Given the description of an element on the screen output the (x, y) to click on. 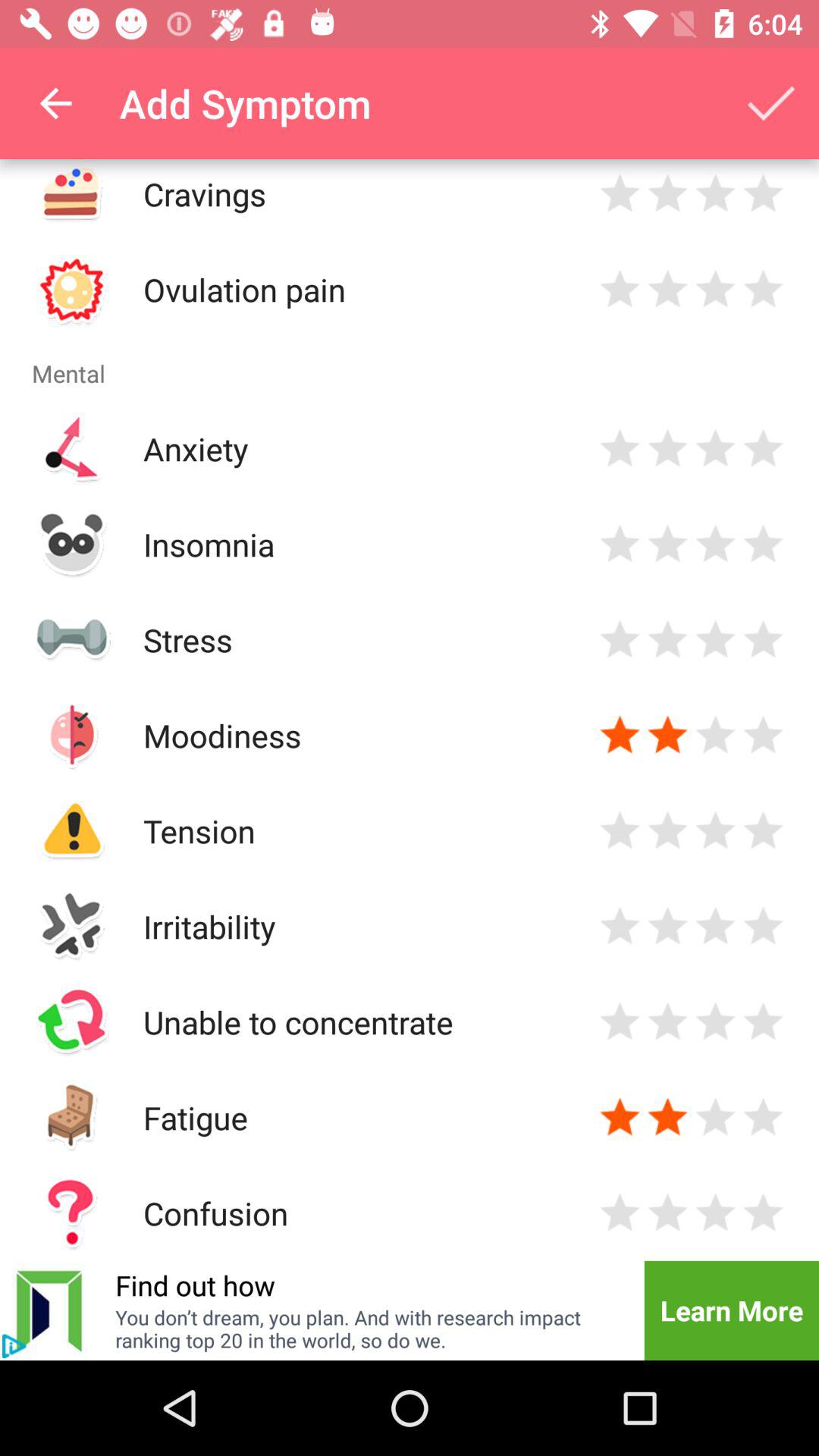
launch learn more (731, 1310)
